Given the description of an element on the screen output the (x, y) to click on. 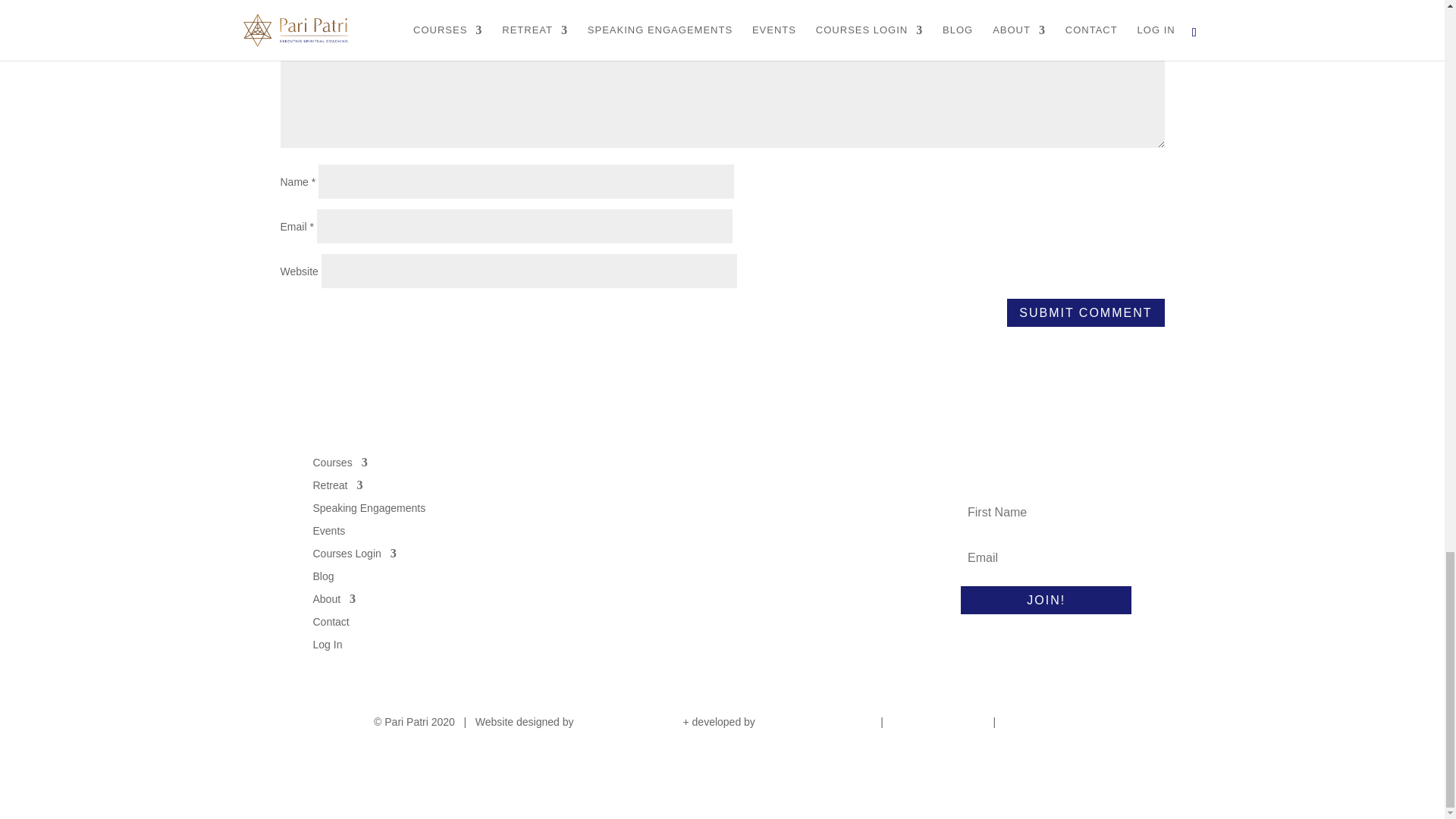
Submit Comment (1085, 312)
Belle Web Design and Development (815, 721)
Courses (339, 459)
Submit Comment (1085, 312)
Privacy Policy (1037, 721)
Retreat (337, 482)
Soul Stirring Branding (627, 721)
